Given the description of an element on the screen output the (x, y) to click on. 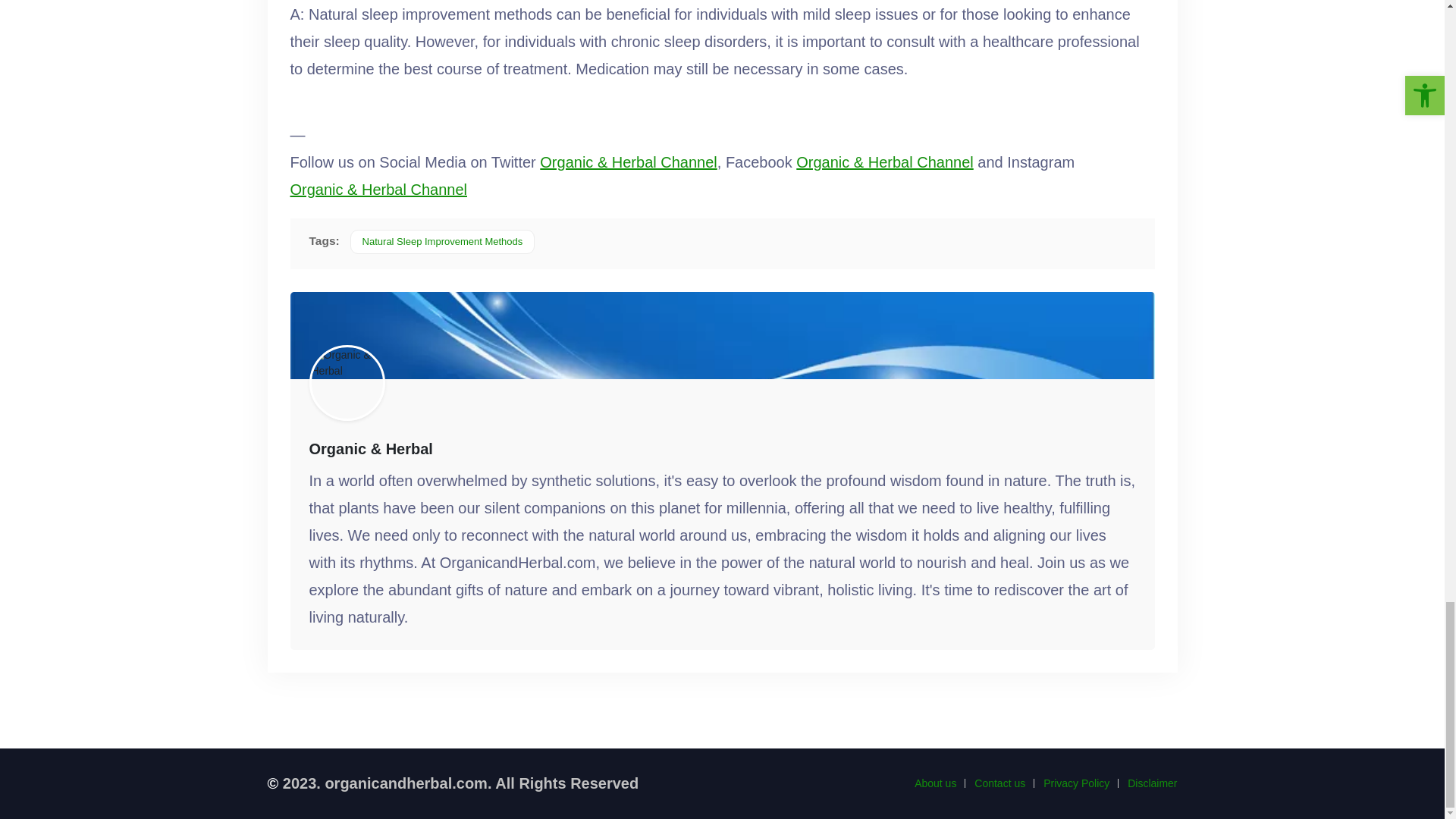
Privacy Policy (1076, 783)
Natural Sleep Improvement Methods (442, 241)
About us (935, 783)
Disclaimer (1151, 783)
Contact us (999, 783)
